Given the description of an element on the screen output the (x, y) to click on. 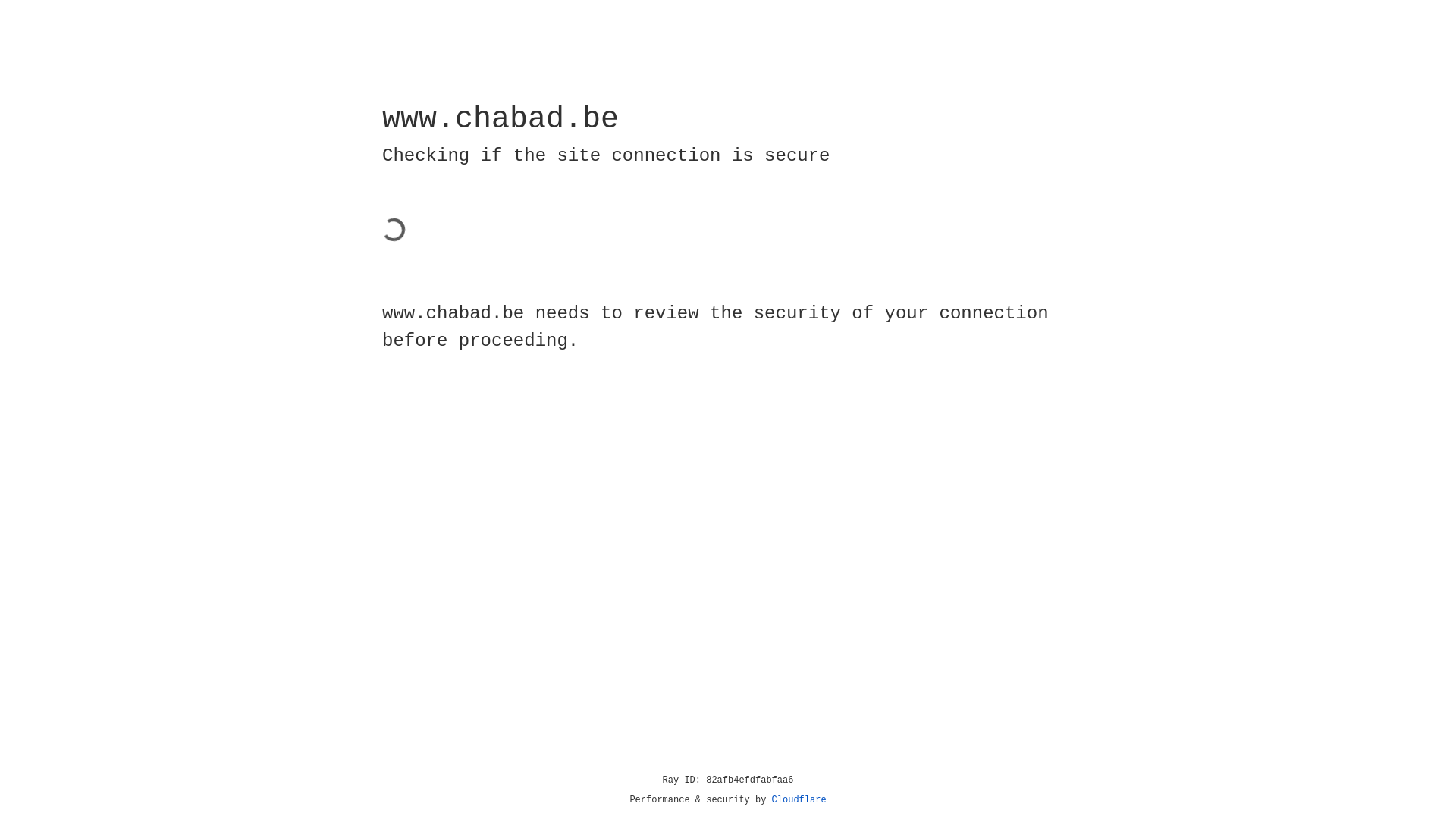
Cloudflare Element type: text (798, 799)
